Given the description of an element on the screen output the (x, y) to click on. 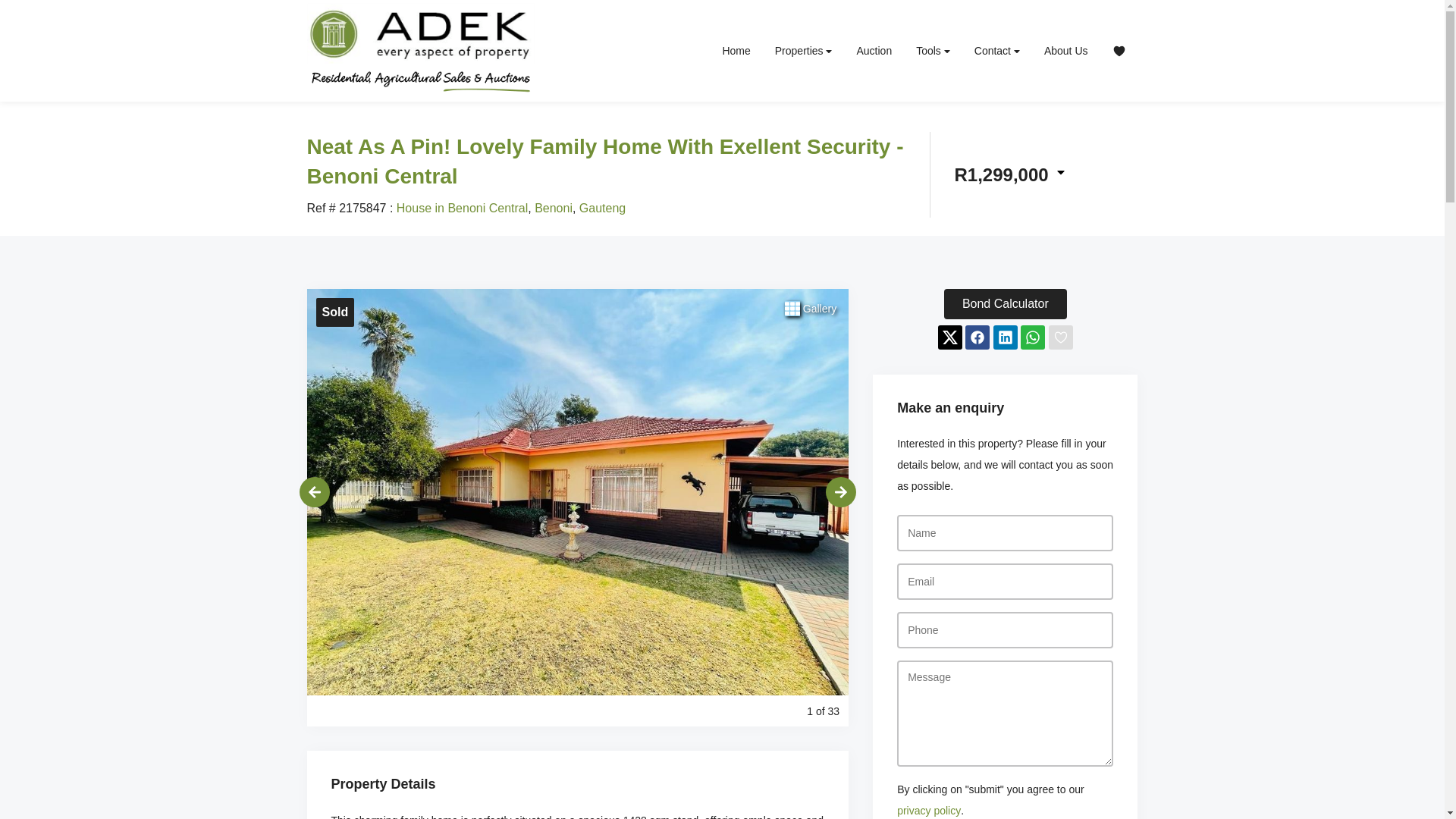
House in Benoni Central (461, 208)
Share to Facebook (977, 337)
Auction (874, 50)
Favourites (1118, 50)
Currency converter (1009, 175)
Share to LinkedIn (1004, 337)
privacy policy (928, 809)
Add this property to your favourites (1060, 337)
Favourites (1118, 50)
Home (735, 50)
